Given the description of an element on the screen output the (x, y) to click on. 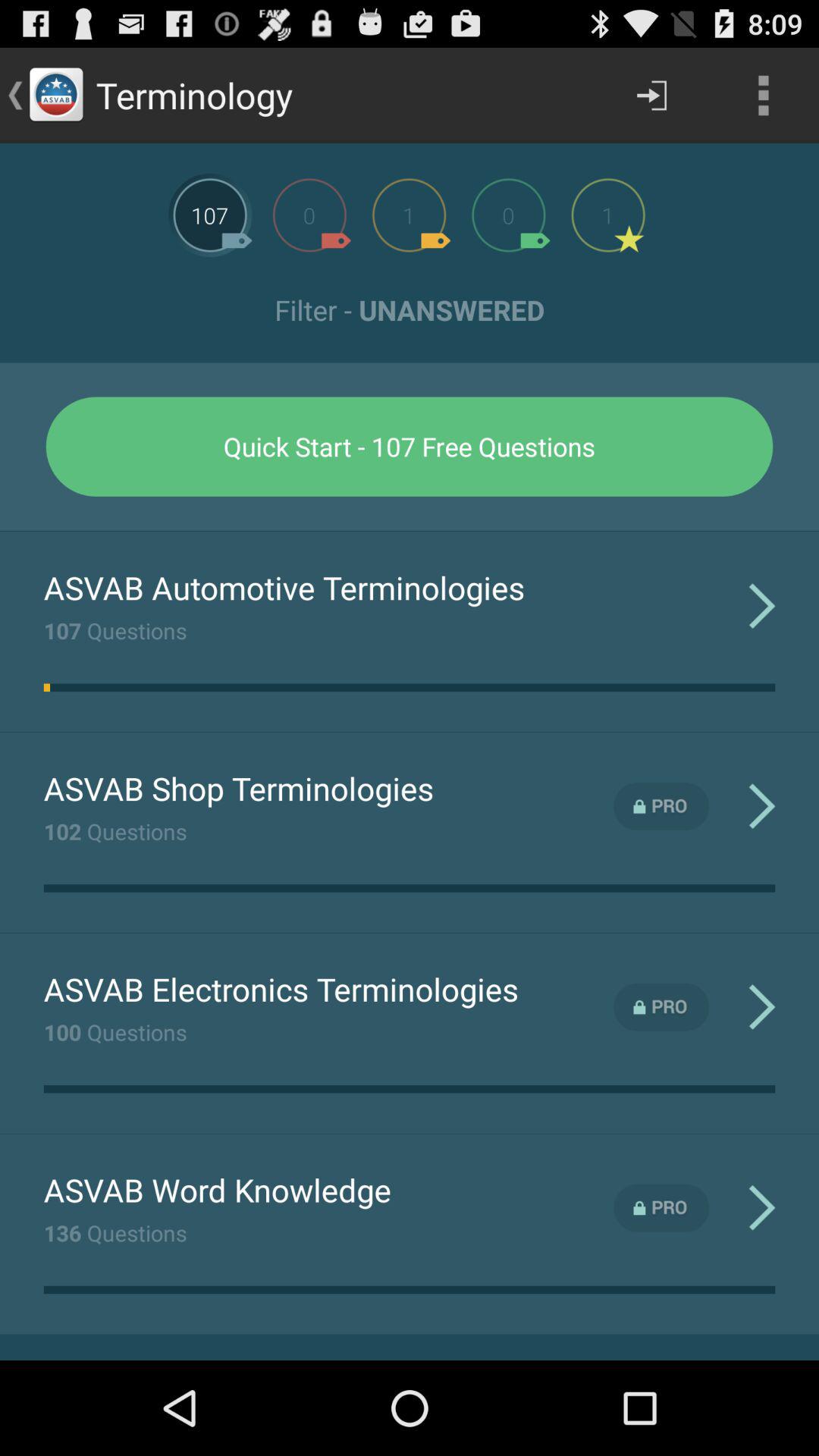
launch icon below the filter - unanswered icon (409, 446)
